Given the description of an element on the screen output the (x, y) to click on. 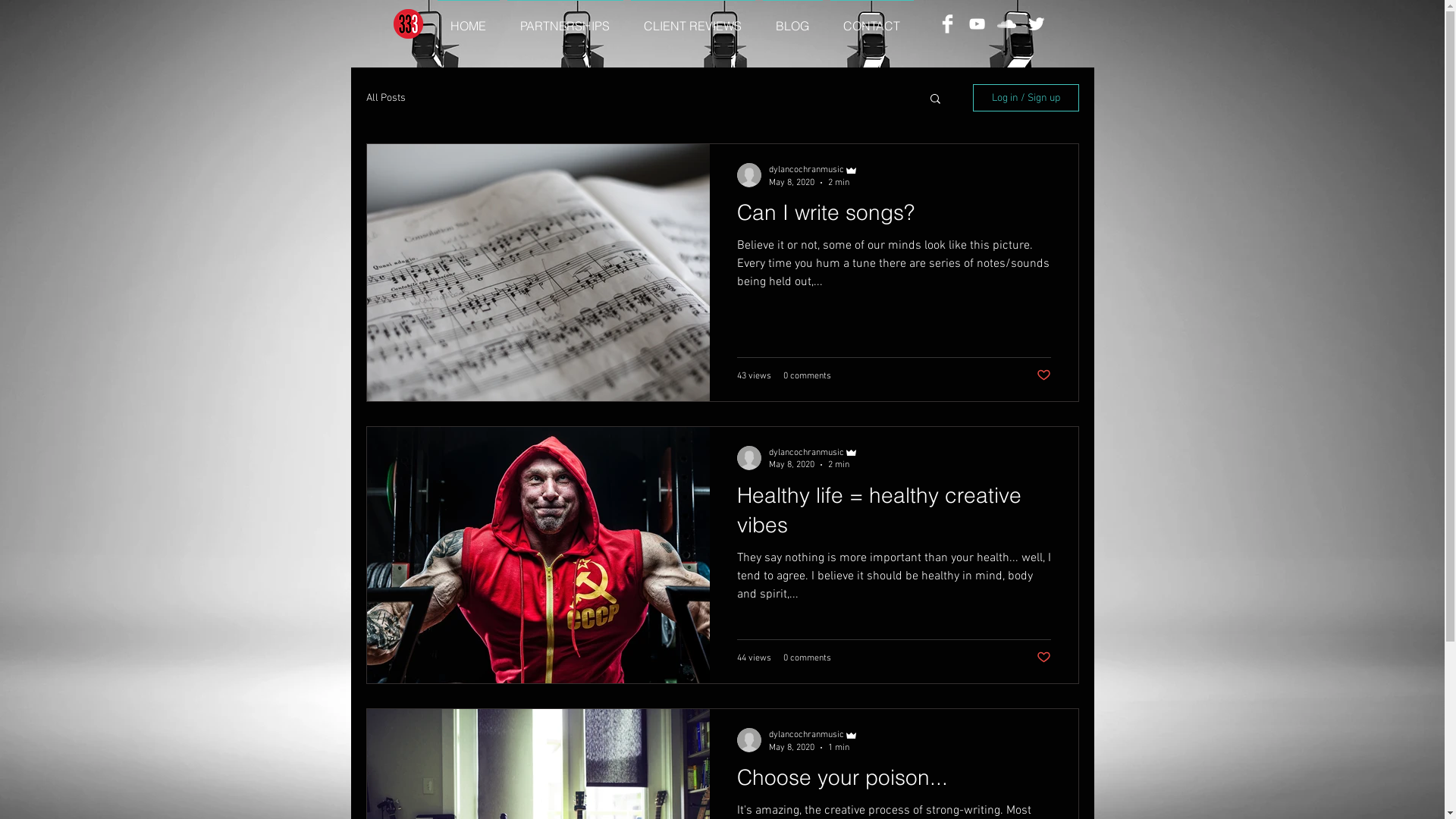
Healthy life = healthy creative vibes Element type: text (894, 513)
CLIENT REVIEWS Element type: text (692, 19)
Choose your poison... Element type: text (894, 781)
BLOG Element type: text (791, 19)
Post not marked as liked Element type: text (1042, 375)
HOME Element type: text (468, 19)
0 comments Element type: text (806, 657)
CONTACT Element type: text (871, 19)
All Posts Element type: text (384, 97)
Can I write songs? Element type: text (894, 216)
Post not marked as liked Element type: text (1042, 657)
PARTNERSHIPS Element type: text (565, 19)
0 comments Element type: text (806, 375)
Log in / Sign up Element type: text (1025, 97)
